Given the description of an element on the screen output the (x, y) to click on. 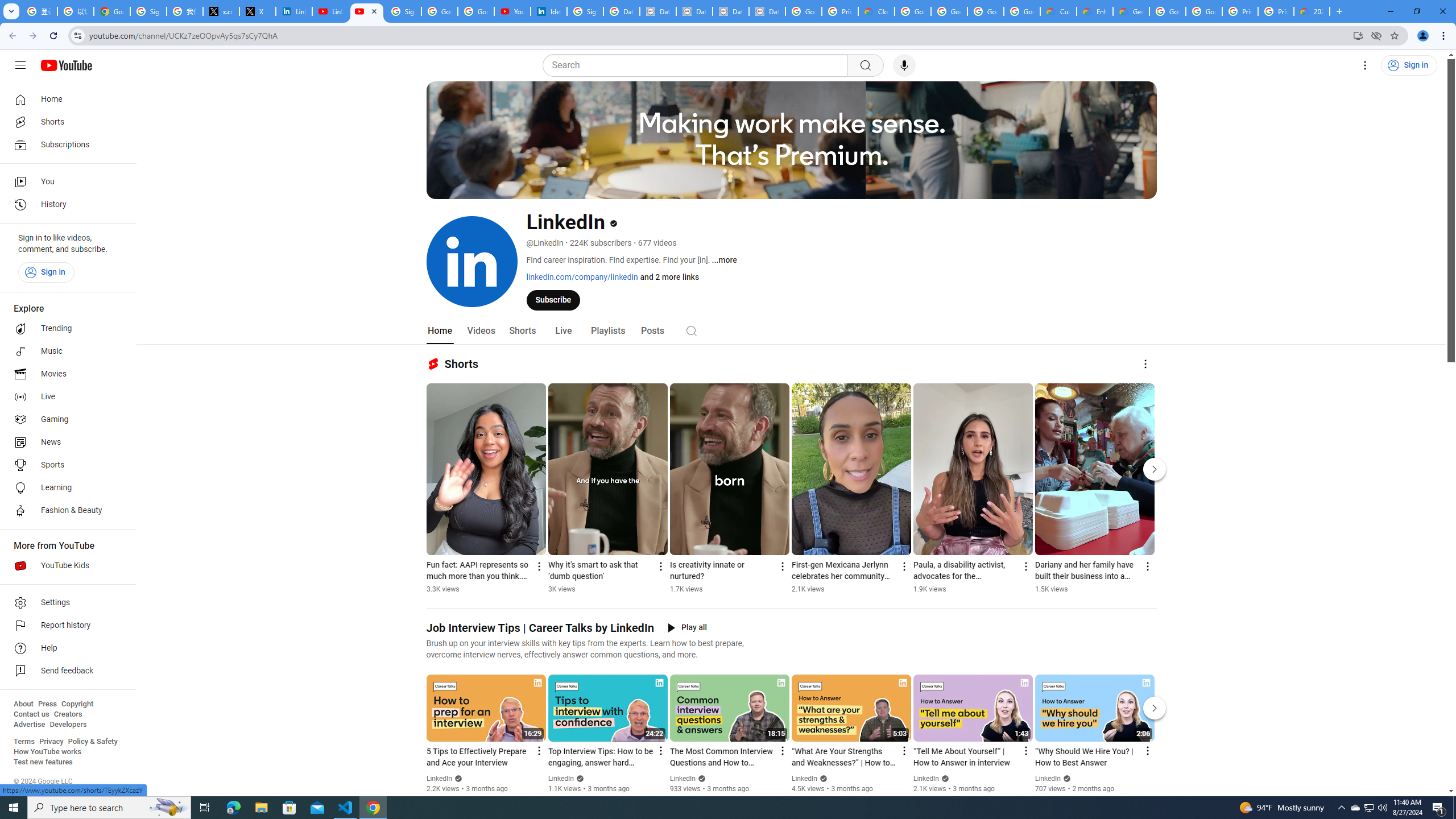
Customer Care | Google Cloud (1058, 11)
Settings (1365, 65)
YouTube Home (66, 65)
Report history (64, 625)
Google Cloud Platform (1203, 11)
History (64, 204)
